Given the description of an element on the screen output the (x, y) to click on. 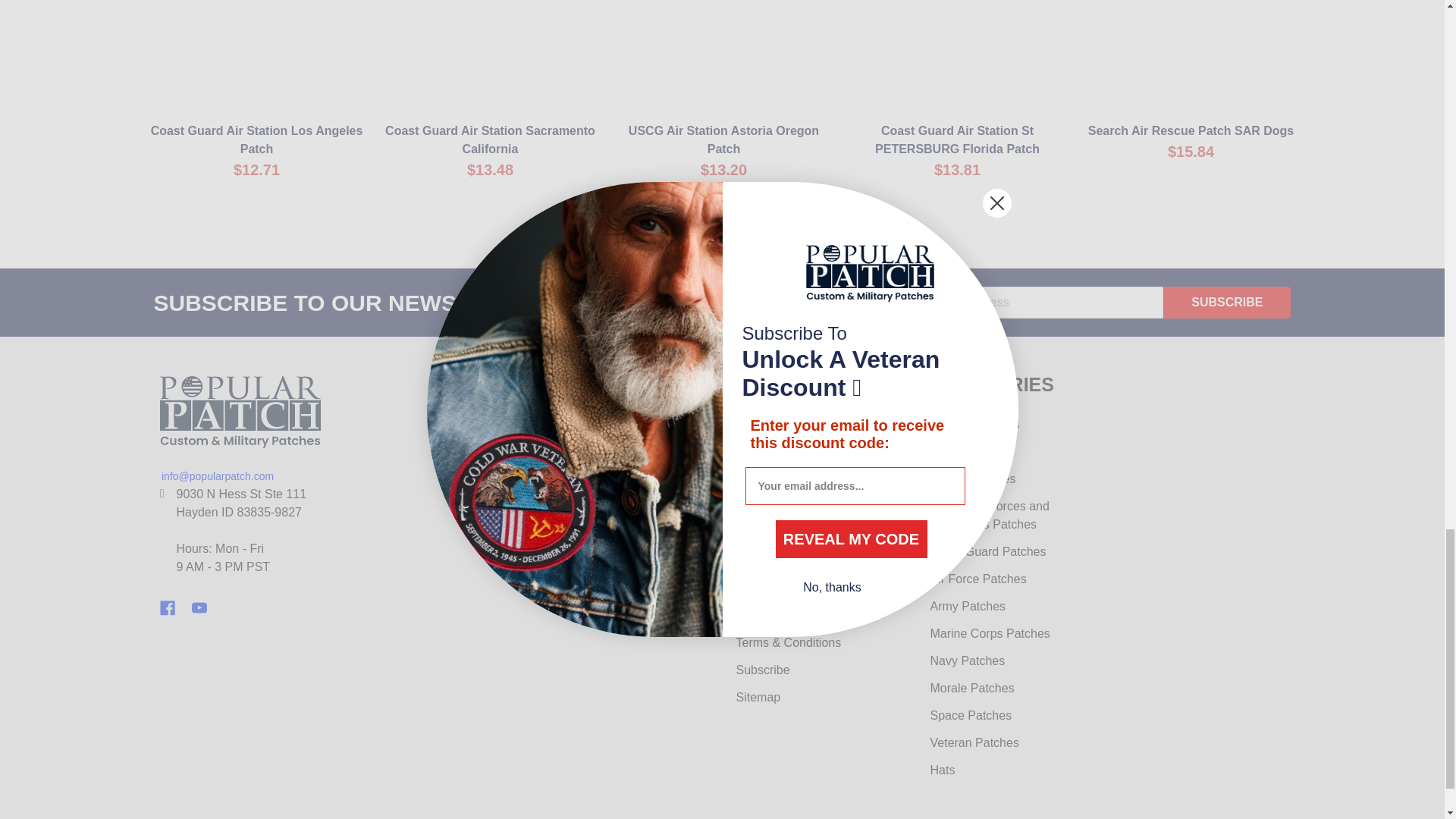
Subscribe (1226, 302)
null (256, 56)
